Given the description of an element on the screen output the (x, y) to click on. 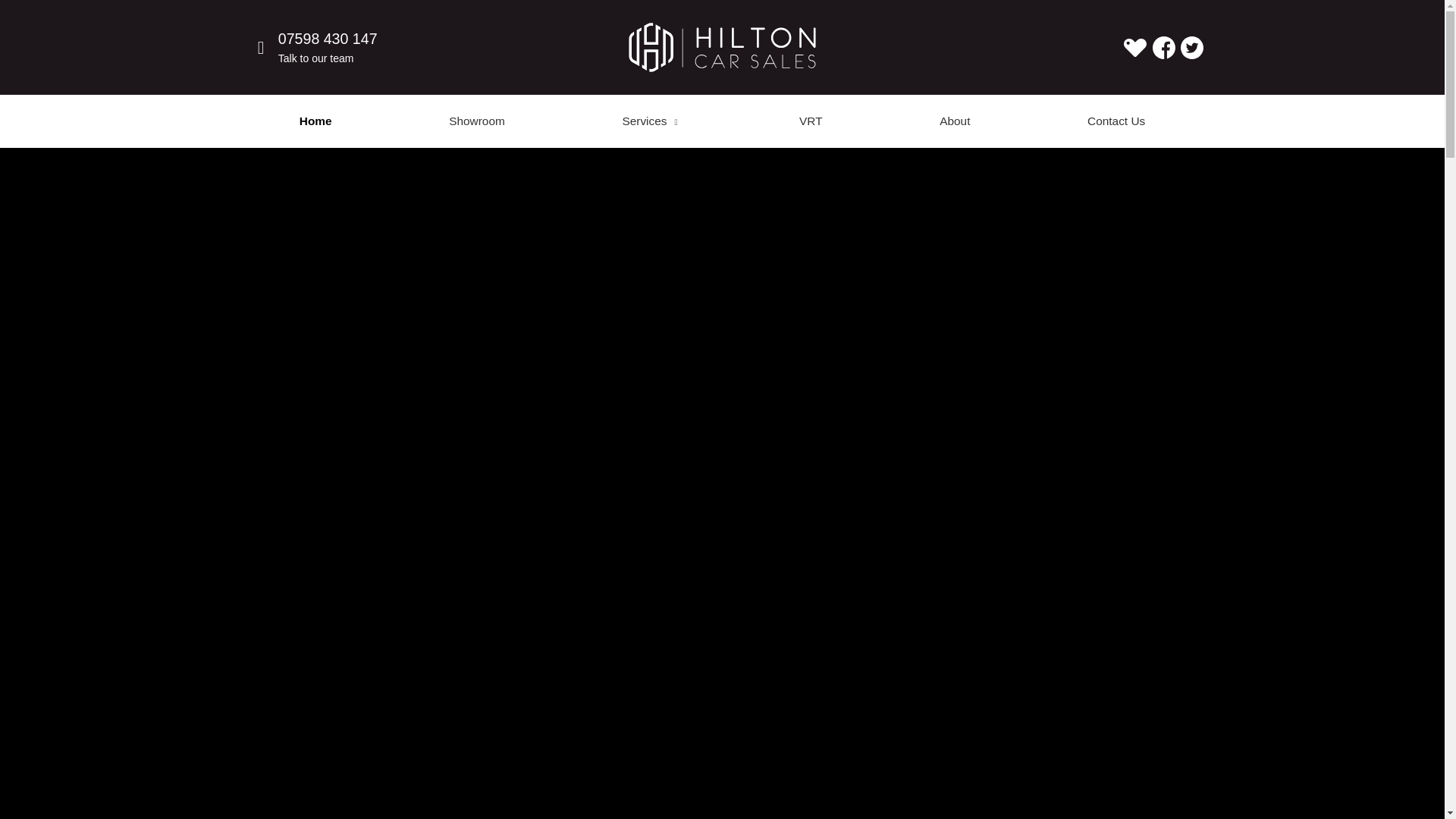
Contact Us (1116, 121)
VRT (810, 121)
Home (314, 121)
Talk to our team (315, 58)
Check us out on Facebook (1163, 47)
About (954, 121)
07598 430 147 (327, 38)
Services (652, 121)
Showroom (476, 121)
Hilton Car Sales (721, 47)
Check us out on Twitter (1192, 47)
